Given the description of an element on the screen output the (x, y) to click on. 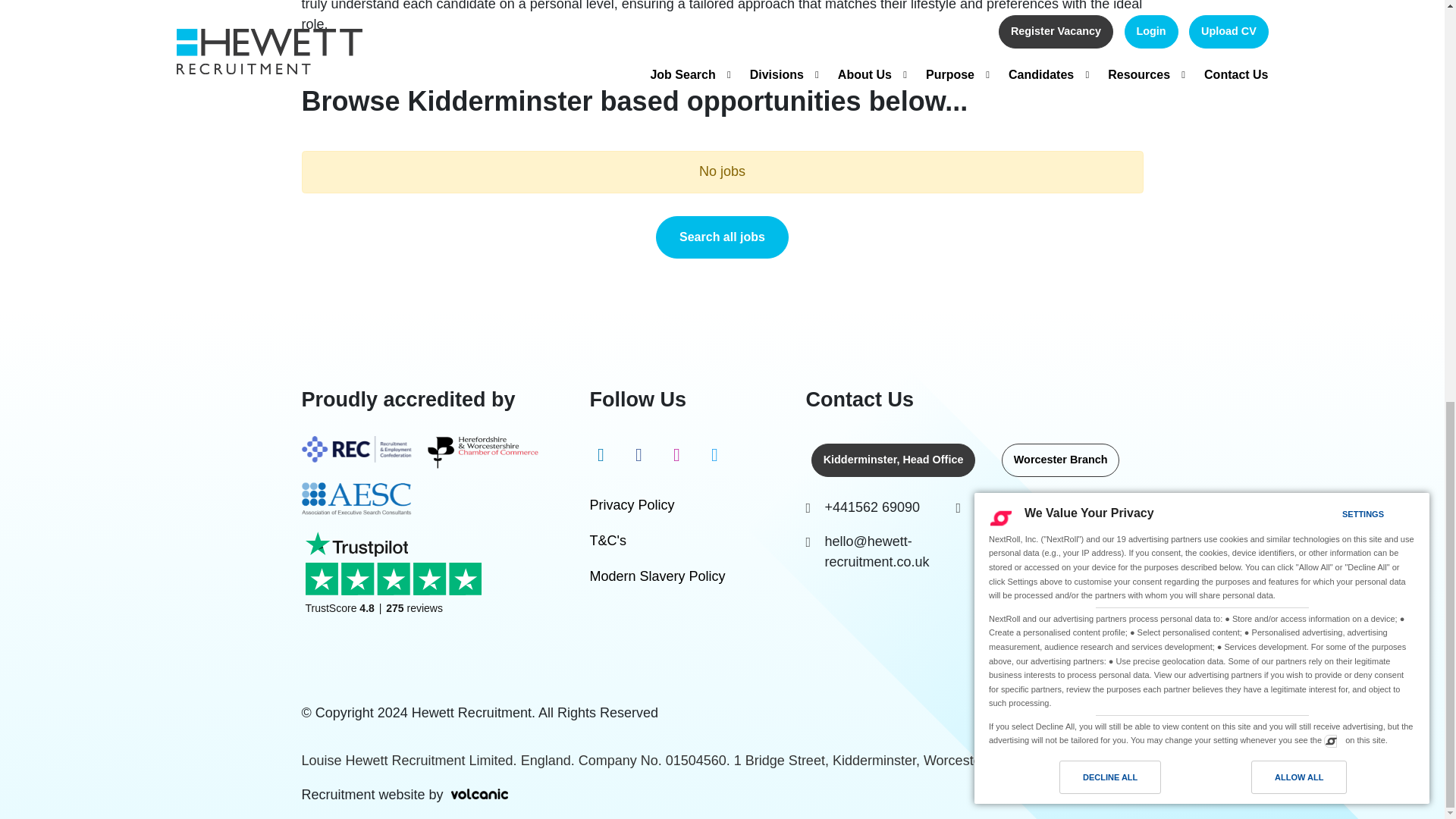
Customer reviews powered by Trustpilot (397, 585)
